Given the description of an element on the screen output the (x, y) to click on. 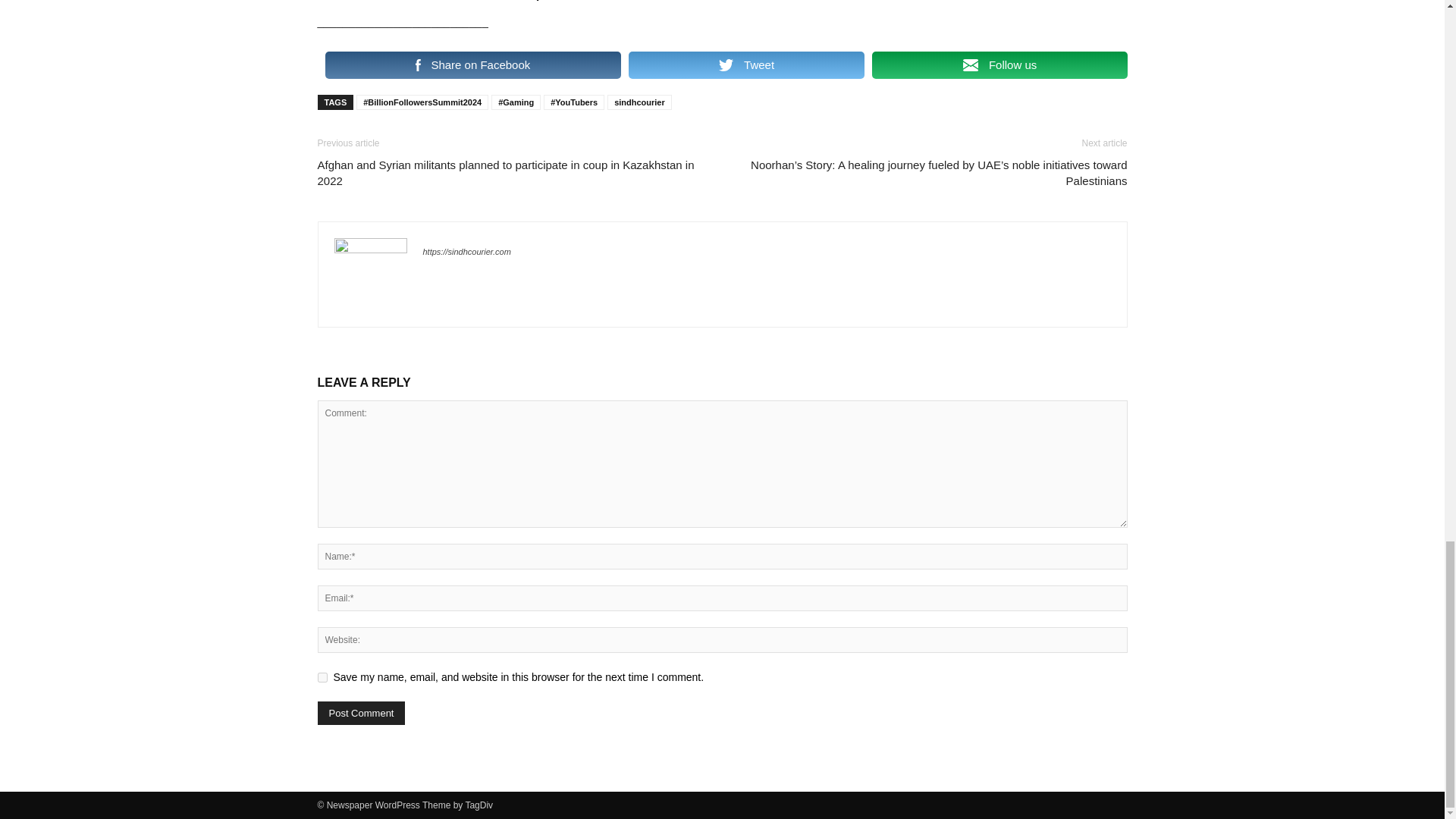
Follow us (999, 64)
Post Comment (360, 712)
yes (321, 677)
Tweet (746, 64)
Share on Facebook (472, 64)
